Given the description of an element on the screen output the (x, y) to click on. 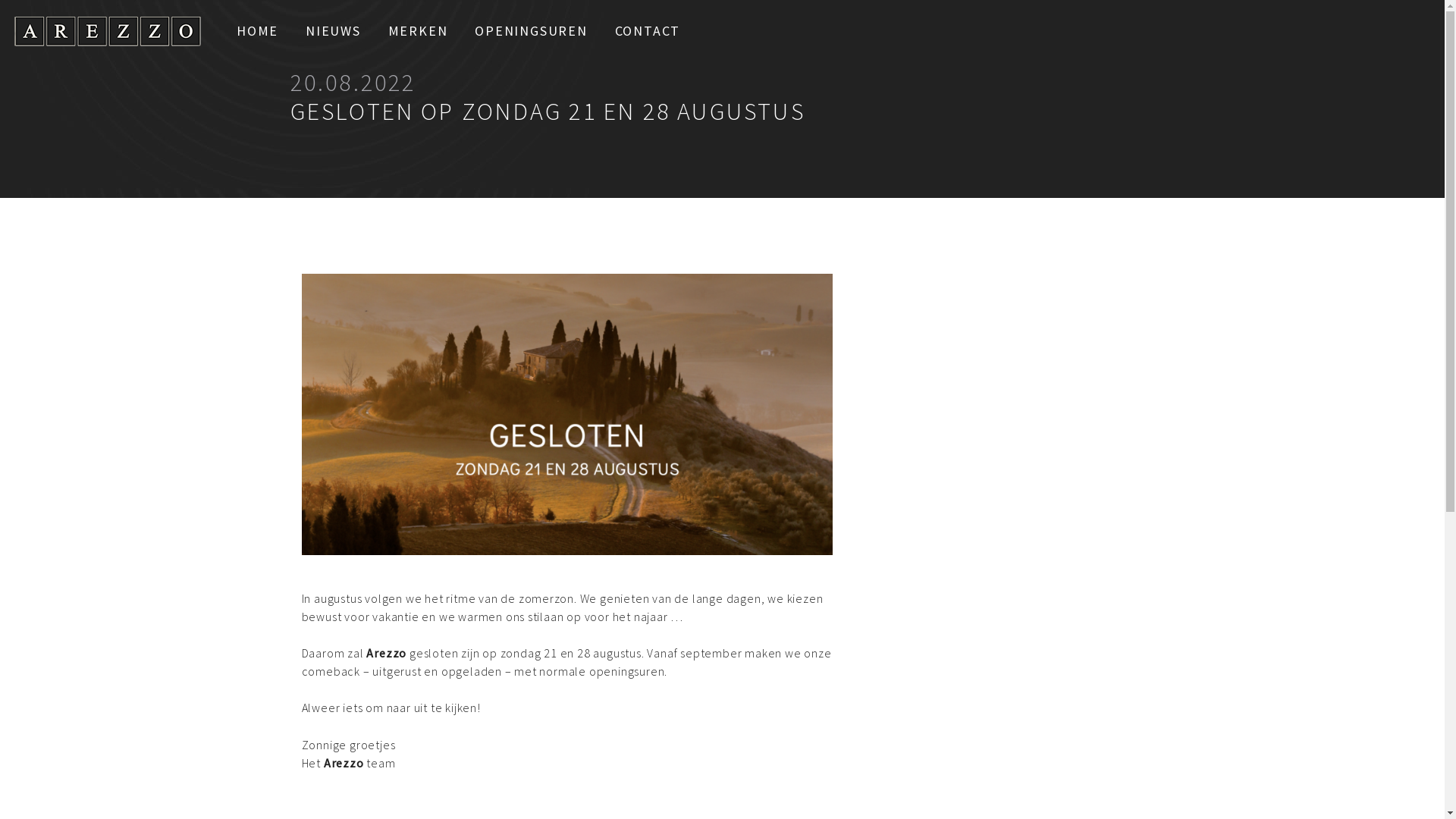
HOME Element type: text (257, 30)
MERKEN Element type: text (418, 30)
CONTACT Element type: text (647, 30)
OPENINGSUREN Element type: text (530, 30)
NIEUWS Element type: text (332, 30)
